Given the description of an element on the screen output the (x, y) to click on. 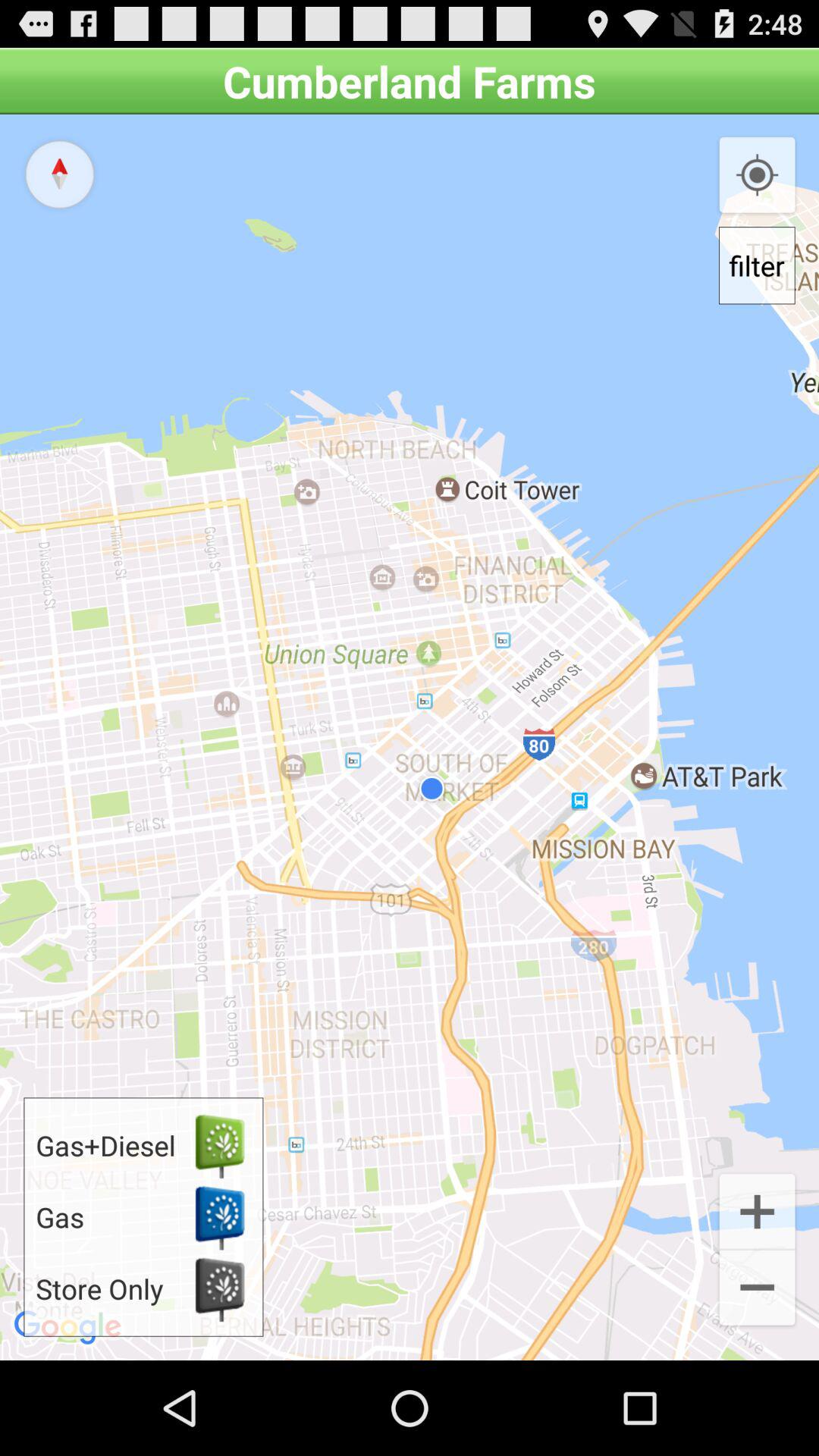
click icon below the cumberland farms app (409, 737)
